Given the description of an element on the screen output the (x, y) to click on. 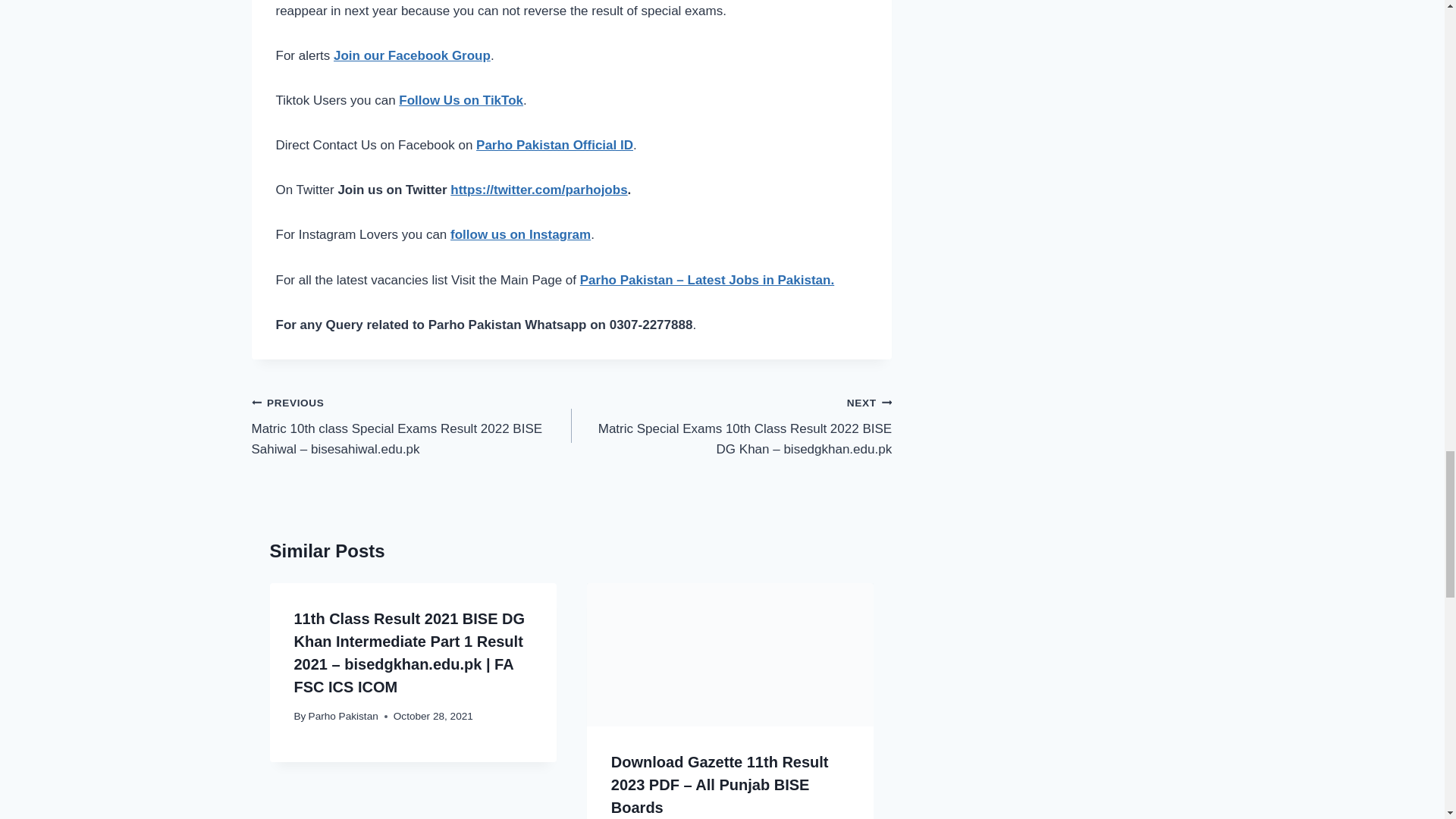
Parho Pakistan Official ID (554, 145)
Follow Us on TikTok (460, 100)
follow us on Instagram (520, 234)
Parho Pakistan (343, 715)
Join our Facebook Group (411, 55)
